Given the description of an element on the screen output the (x, y) to click on. 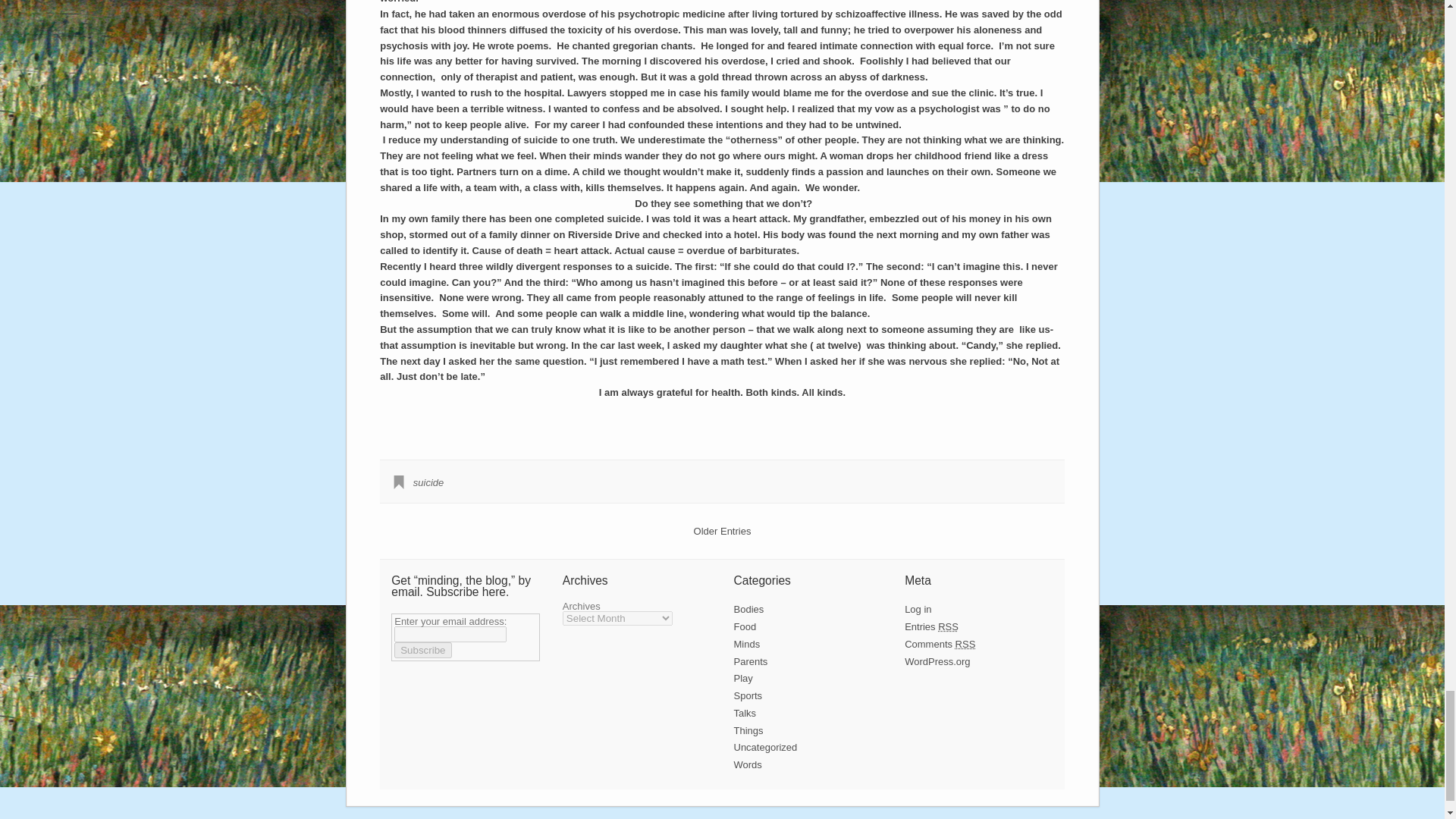
Subscribe (422, 650)
Really Simple Syndication (947, 626)
Really Simple Syndication (965, 644)
